Given the description of an element on the screen output the (x, y) to click on. 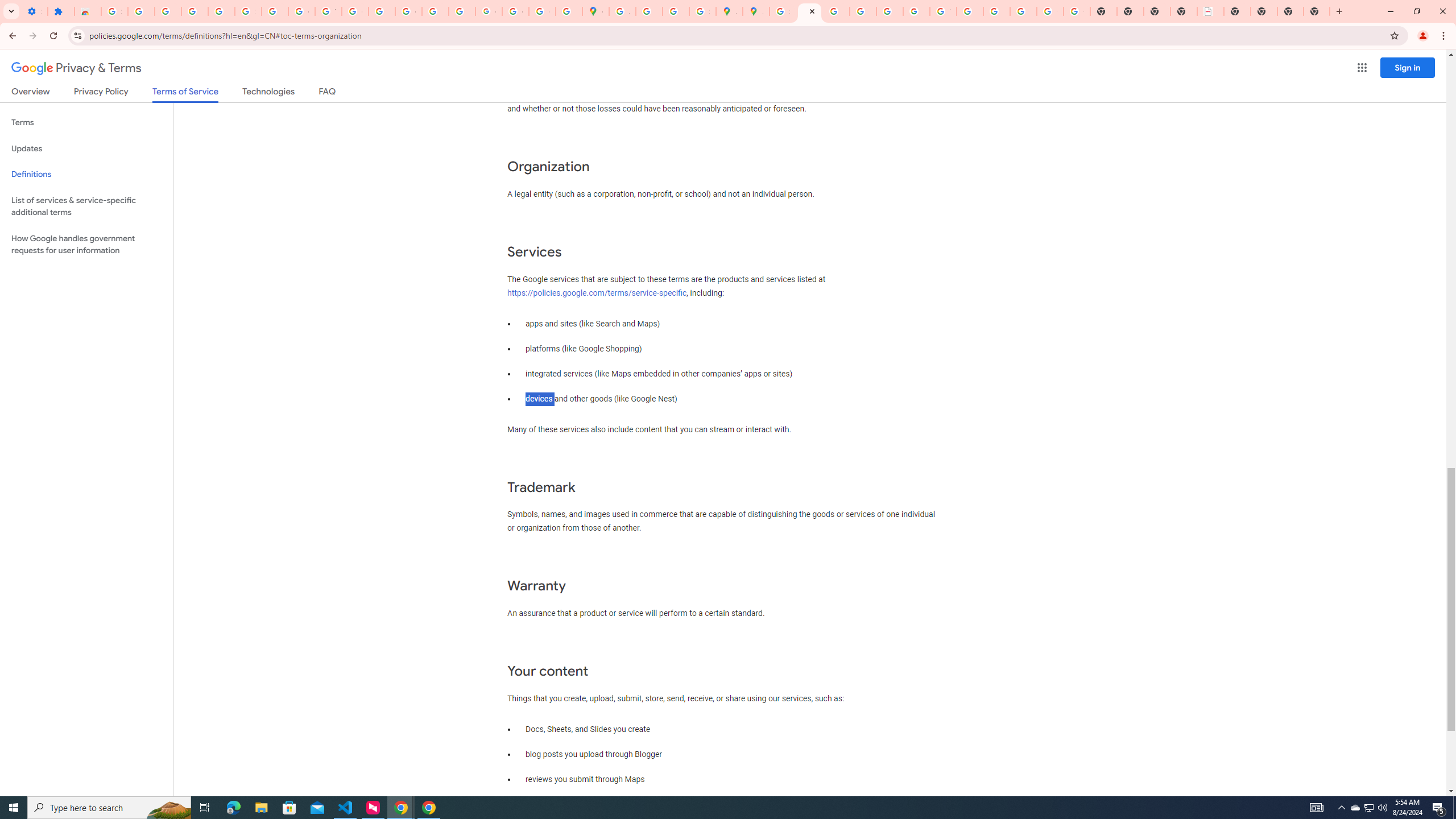
Settings - On startup (34, 11)
Reviews: Helix Fruit Jump Arcade Game (87, 11)
Privacy Help Center - Policies Help (862, 11)
YouTube (328, 11)
